Given the description of an element on the screen output the (x, y) to click on. 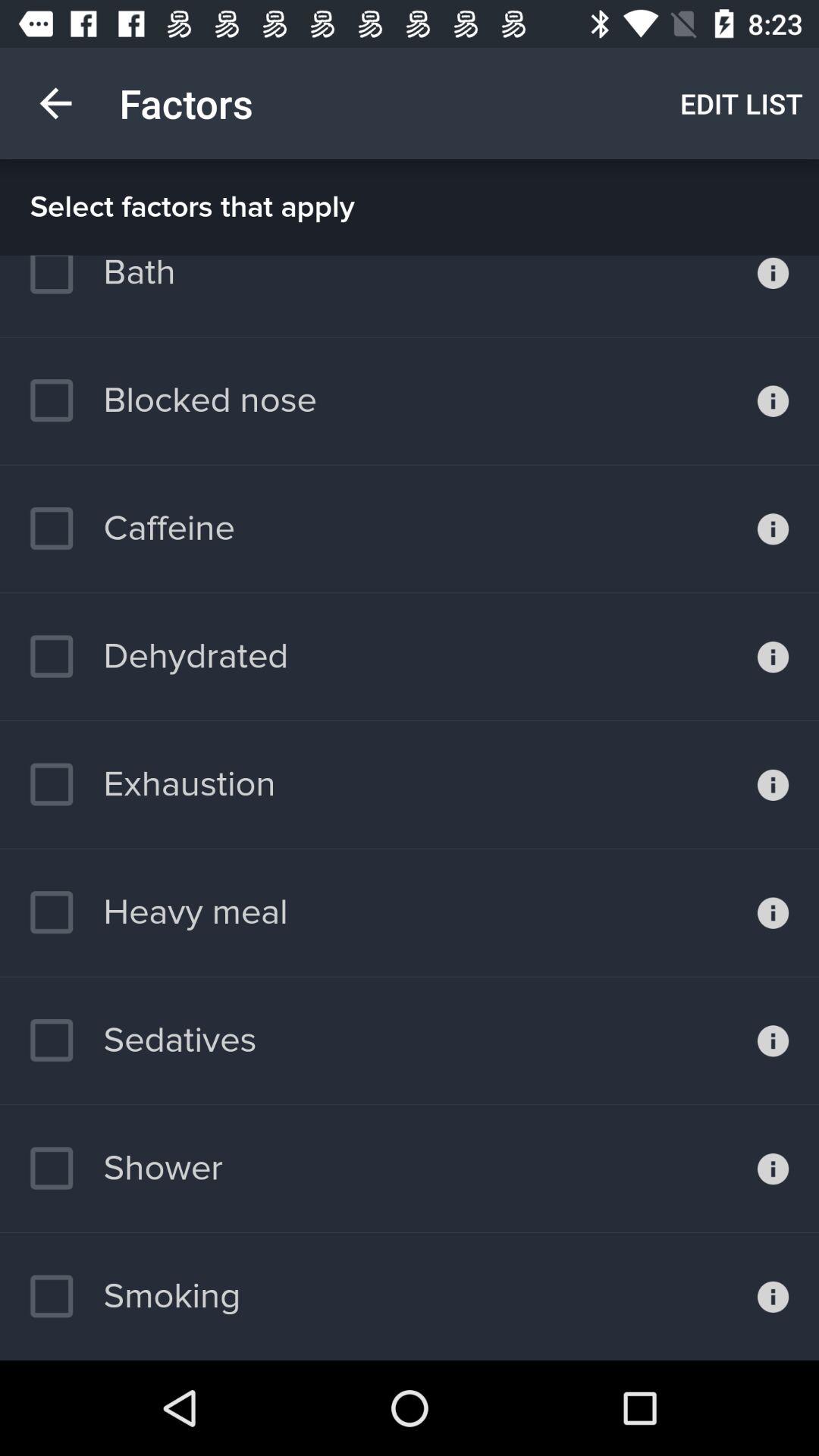
select item above select factors that icon (55, 103)
